Given the description of an element on the screen output the (x, y) to click on. 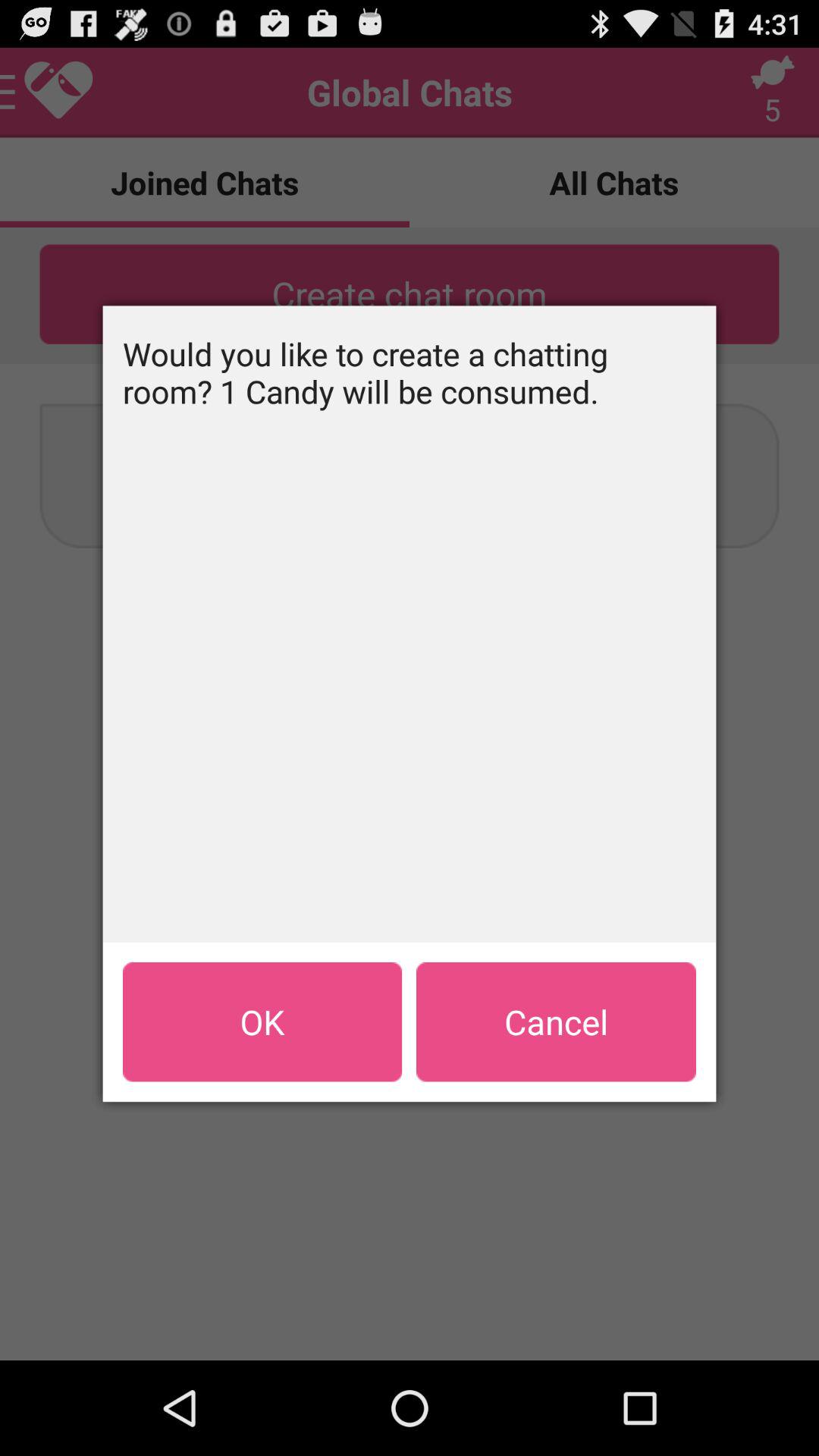
press app next to cancel icon (262, 1021)
